Given the description of an element on the screen output the (x, y) to click on. 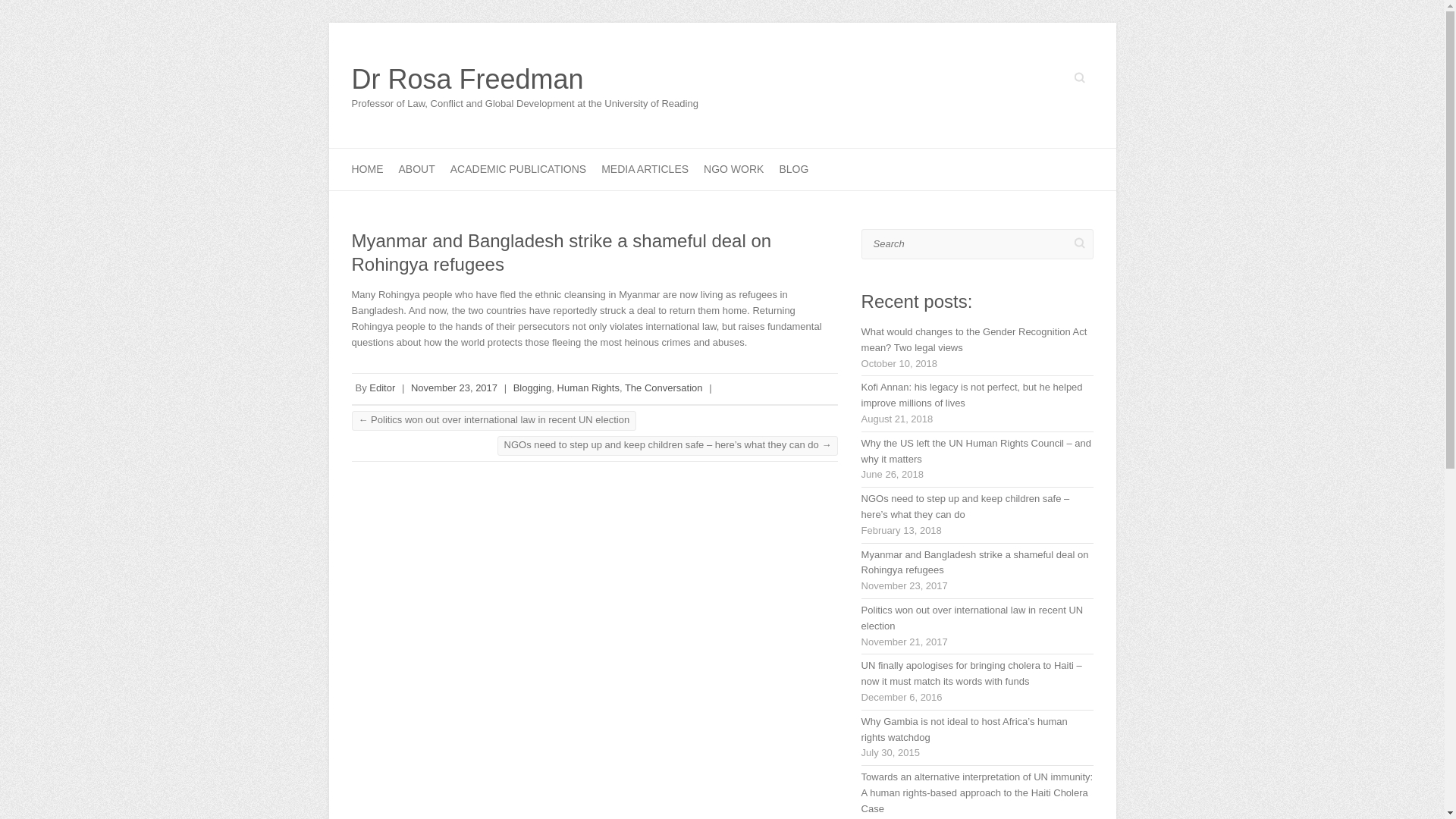
ACADEMIC PUBLICATIONS (517, 169)
1:44 pm (453, 387)
Editor (381, 387)
The Conversation (663, 387)
NGO WORK (732, 169)
Dr Rosa Freedman (525, 79)
MEDIA ARTICLES (644, 169)
